Given the description of an element on the screen output the (x, y) to click on. 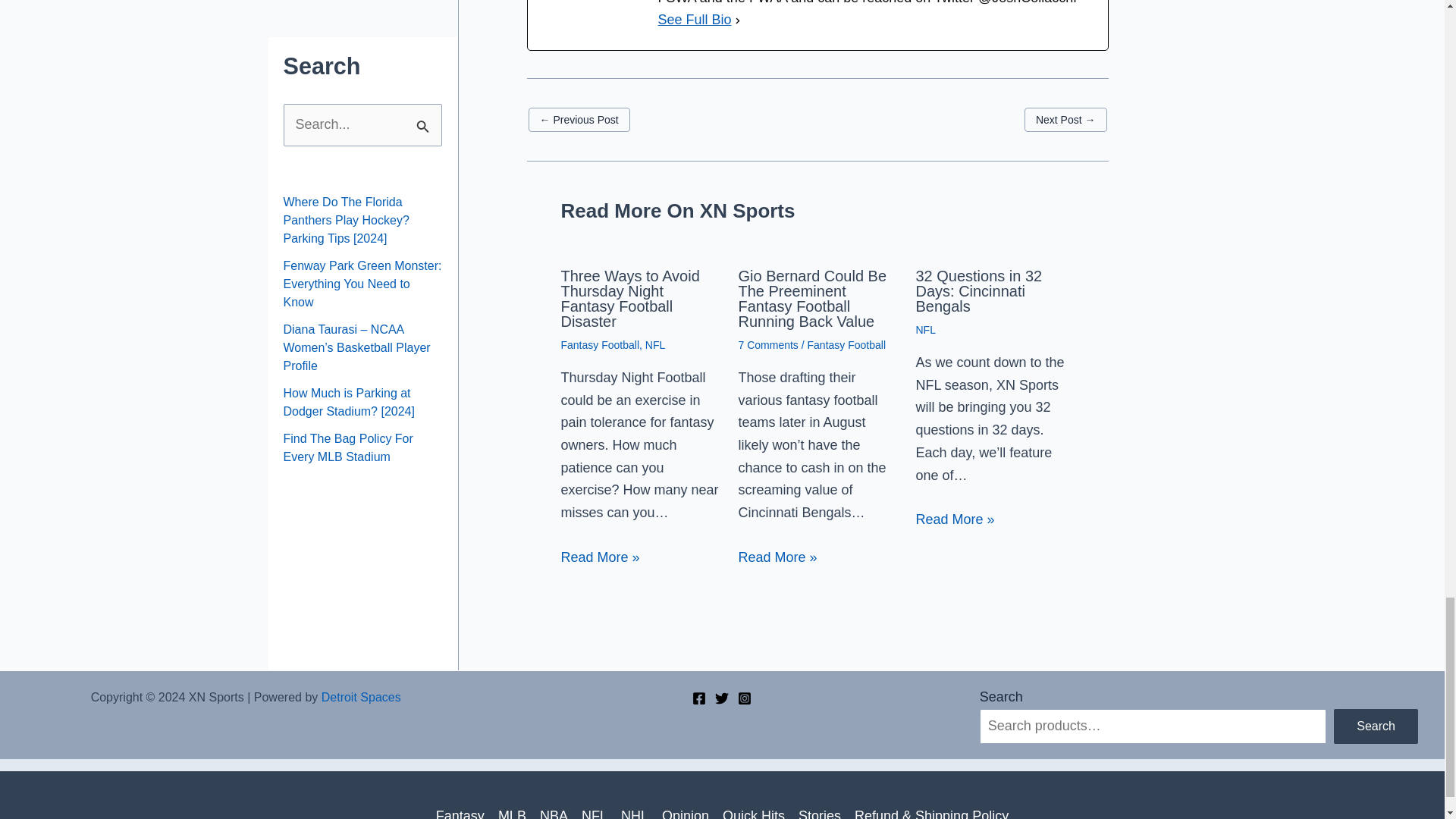
Emmanuel Mudiay's Move Should Put NCAA On Notice  (1065, 119)
